Given the description of an element on the screen output the (x, y) to click on. 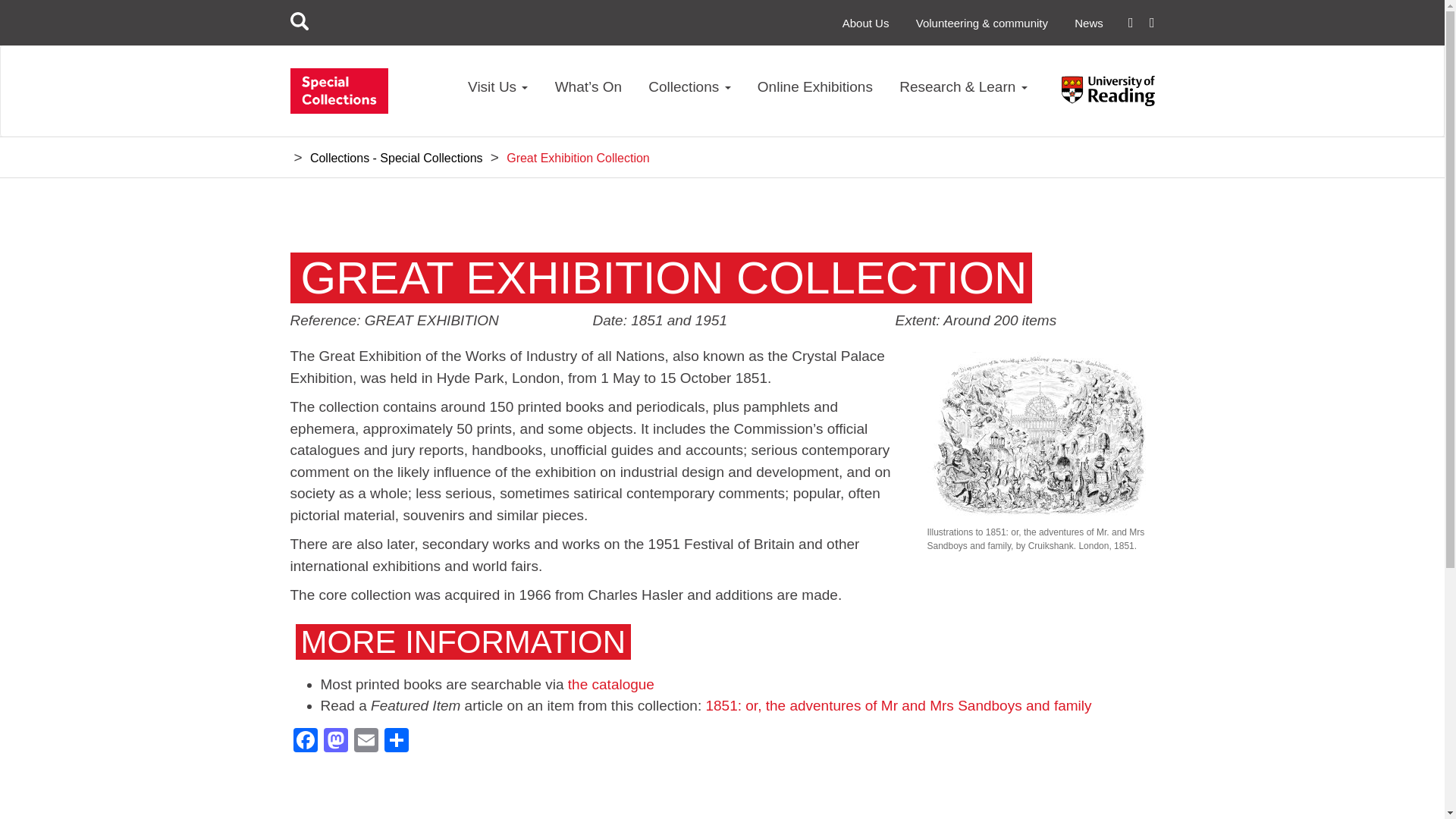
Facebook (304, 741)
Visit Us (497, 94)
Email (365, 741)
the catalogue (610, 684)
Online Exhibitions (814, 94)
Collections - Special Collections (396, 157)
1851: or, the adventures of Mr and Mrs Sandboys and family (897, 705)
Collections (689, 94)
News (1088, 22)
Mastodon (335, 741)
About Us (866, 22)
Collections (689, 94)
